Given the description of an element on the screen output the (x, y) to click on. 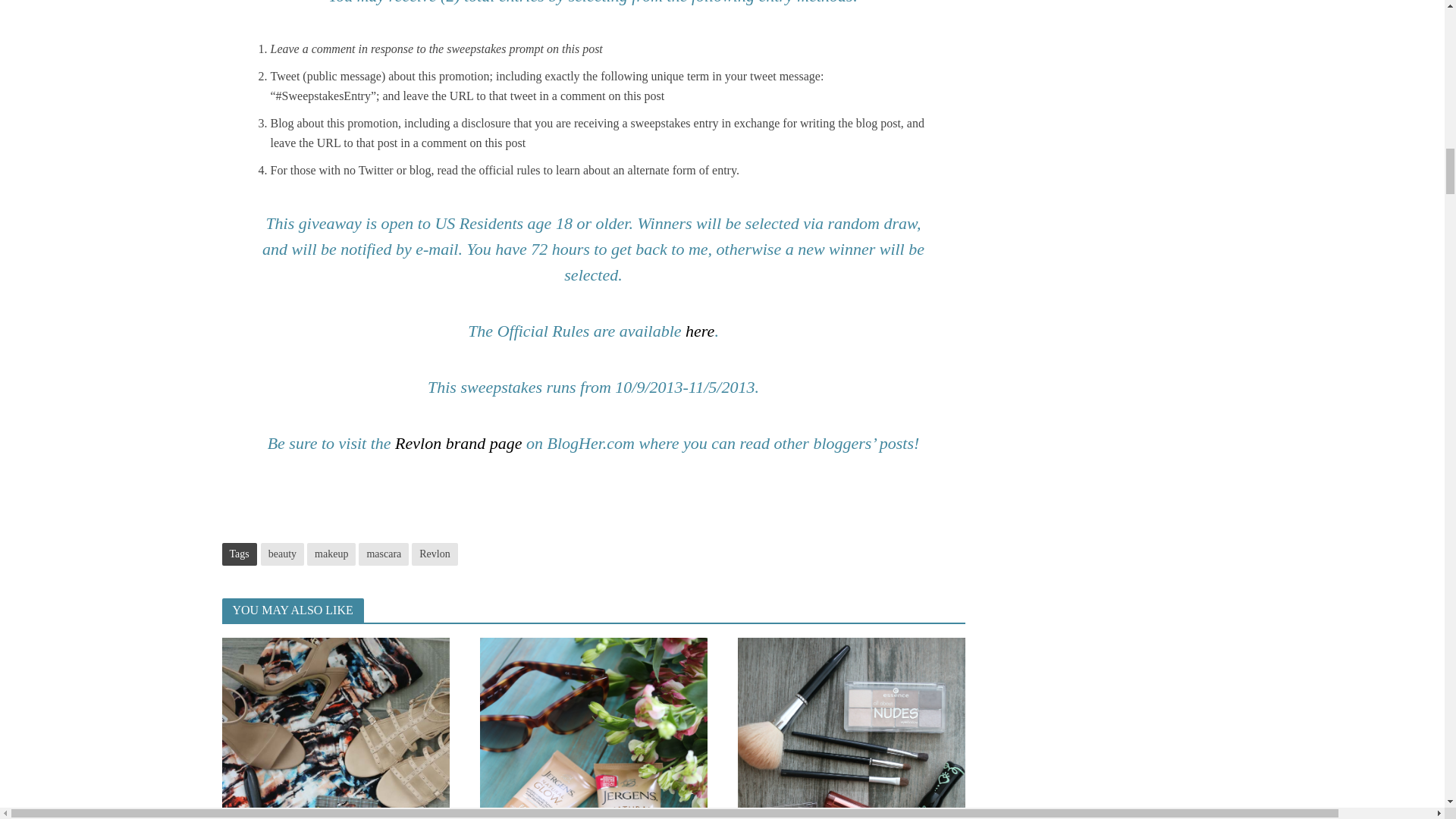
Barre to Bar Makeup with Essence Cosmetics (849, 807)
